Given the description of an element on the screen output the (x, y) to click on. 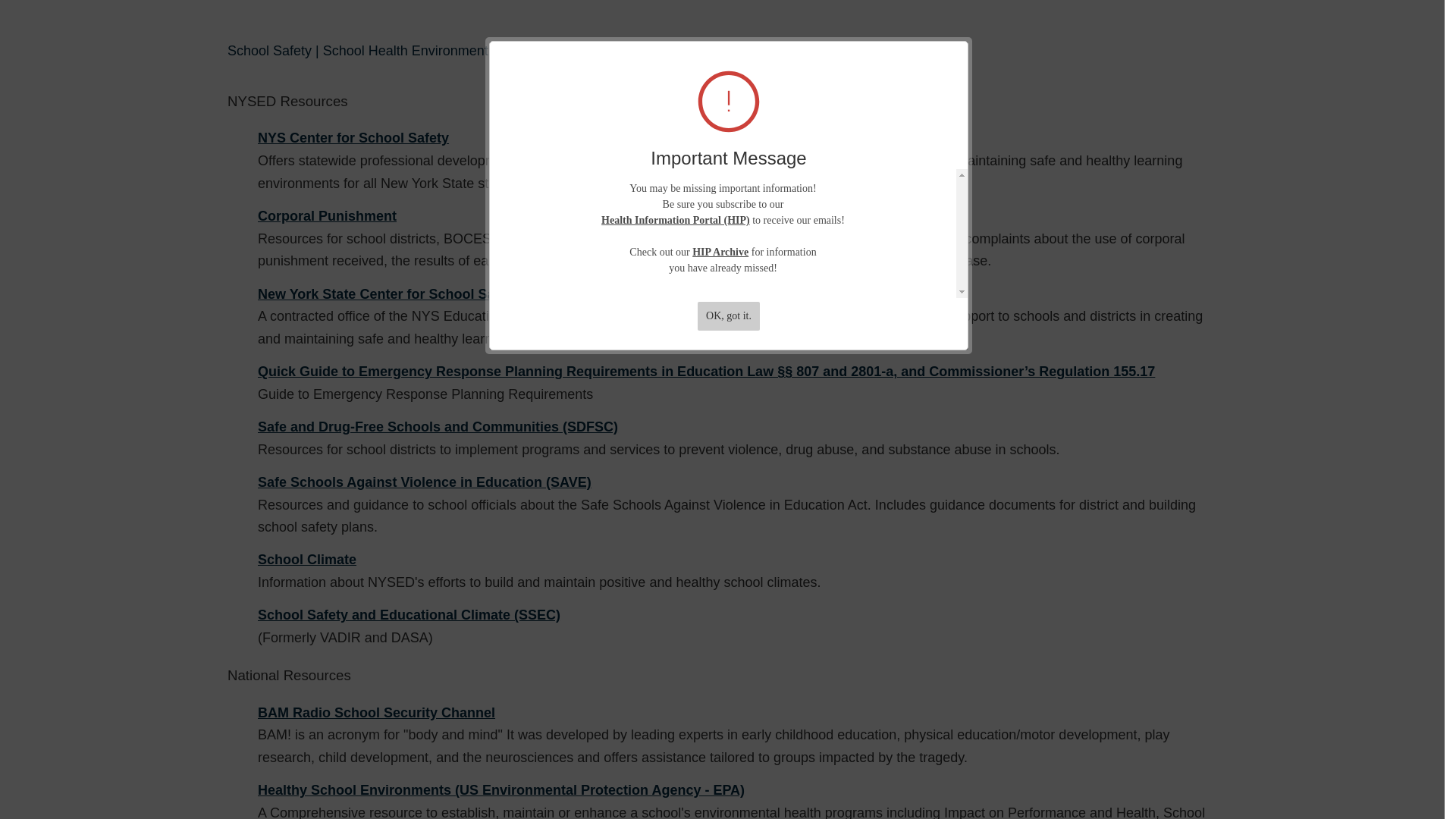
HIP Archive (720, 251)
OK, got it. (728, 316)
